Given the description of an element on the screen output the (x, y) to click on. 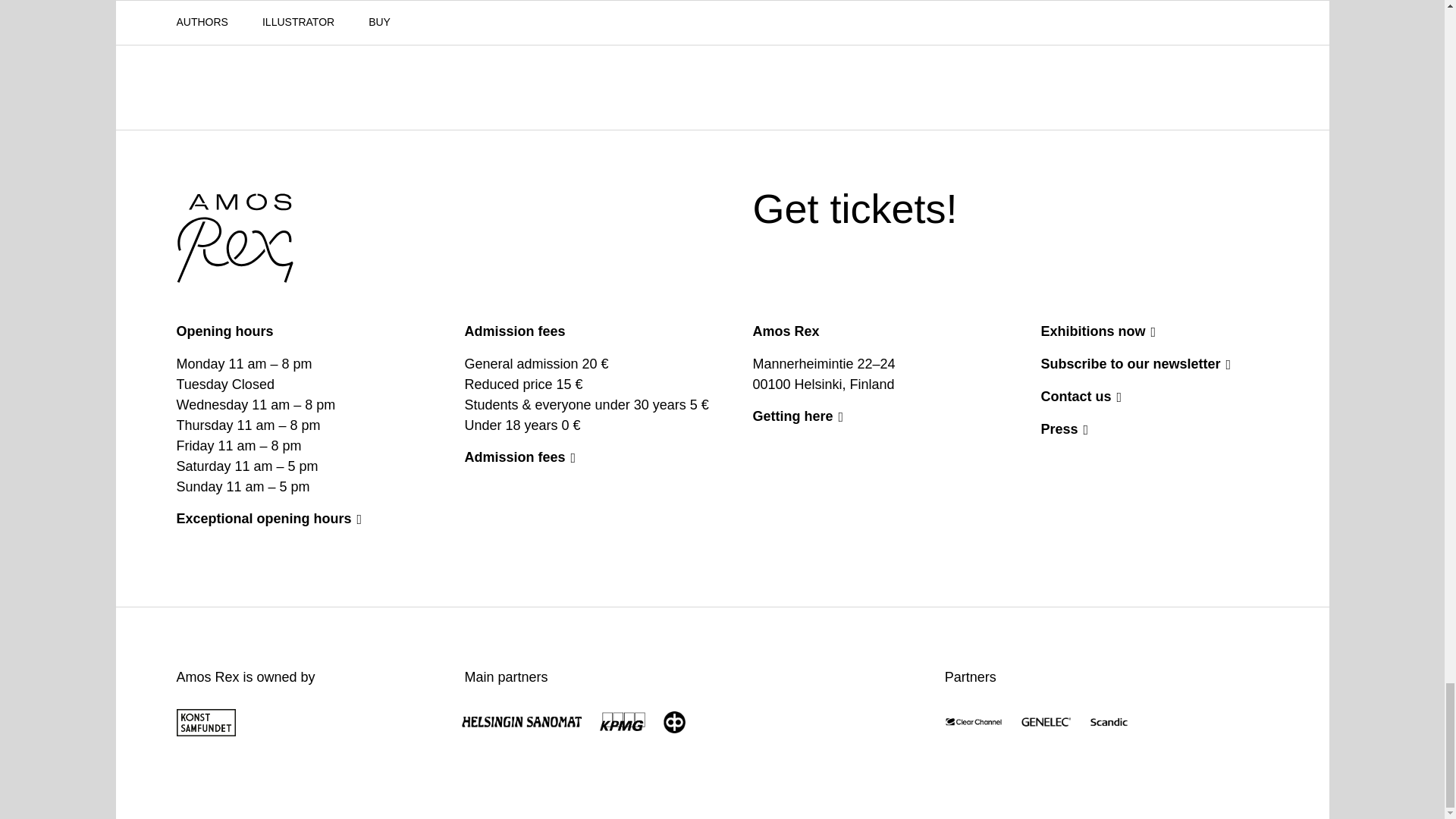
Exceptional opening hours (337, 3)
Get tickets! (289, 518)
Get tickets! (854, 209)
Admission fees (854, 209)
Getting here (577, 456)
